Given the description of an element on the screen output the (x, y) to click on. 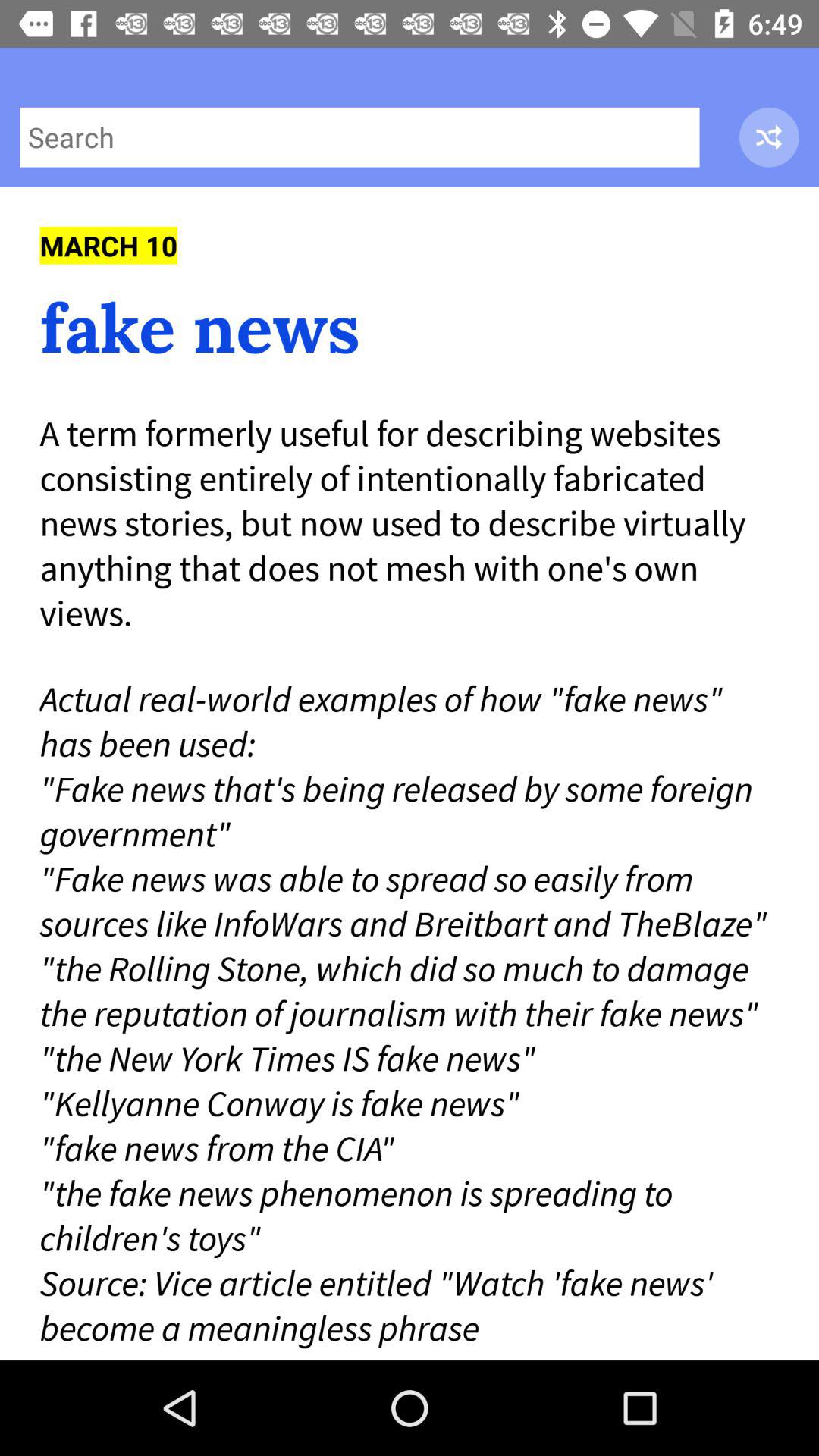
search bar urban dictionary (359, 137)
